Given the description of an element on the screen output the (x, y) to click on. 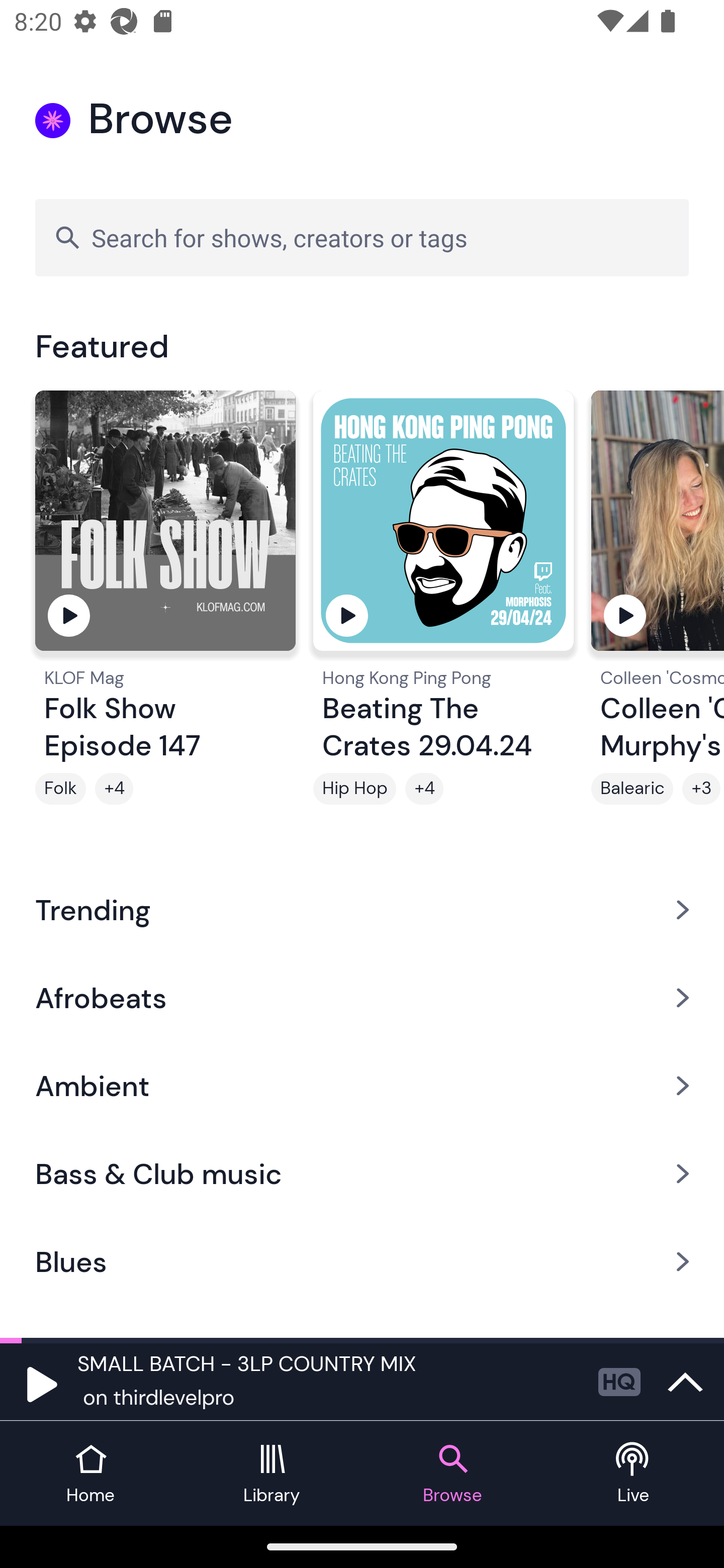
Search for shows, creators or tags (361, 237)
Folk (60, 788)
Hip Hop (354, 788)
Balearic (632, 788)
Trending (361, 909)
Afrobeats (361, 997)
Ambient (361, 1085)
Bass & Club music (361, 1174)
Blues (361, 1262)
Home tab Home (90, 1473)
Library tab Library (271, 1473)
Browse tab Browse (452, 1473)
Live tab Live (633, 1473)
